Given the description of an element on the screen output the (x, y) to click on. 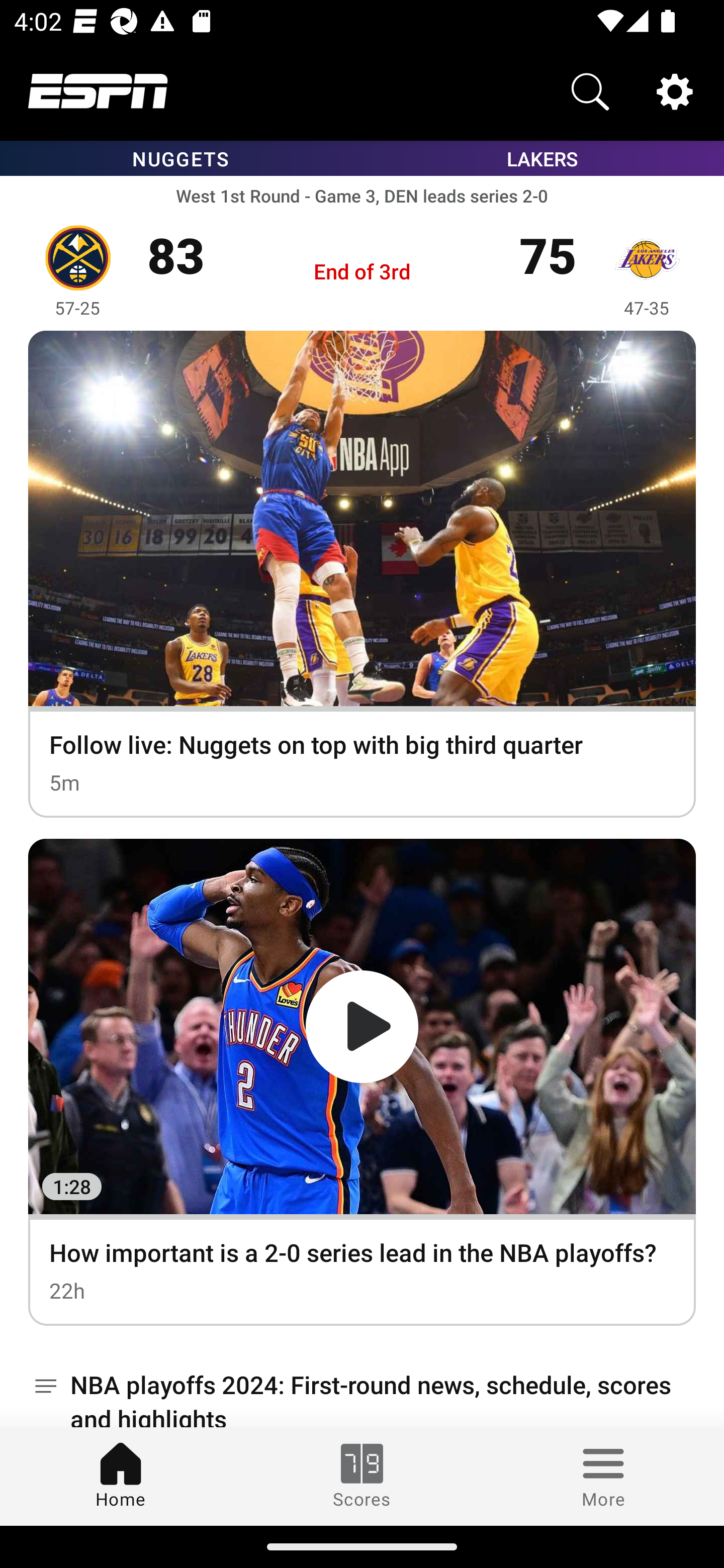
Search (590, 90)
Settings (674, 90)
Scores (361, 1475)
More (603, 1475)
